Given the description of an element on the screen output the (x, y) to click on. 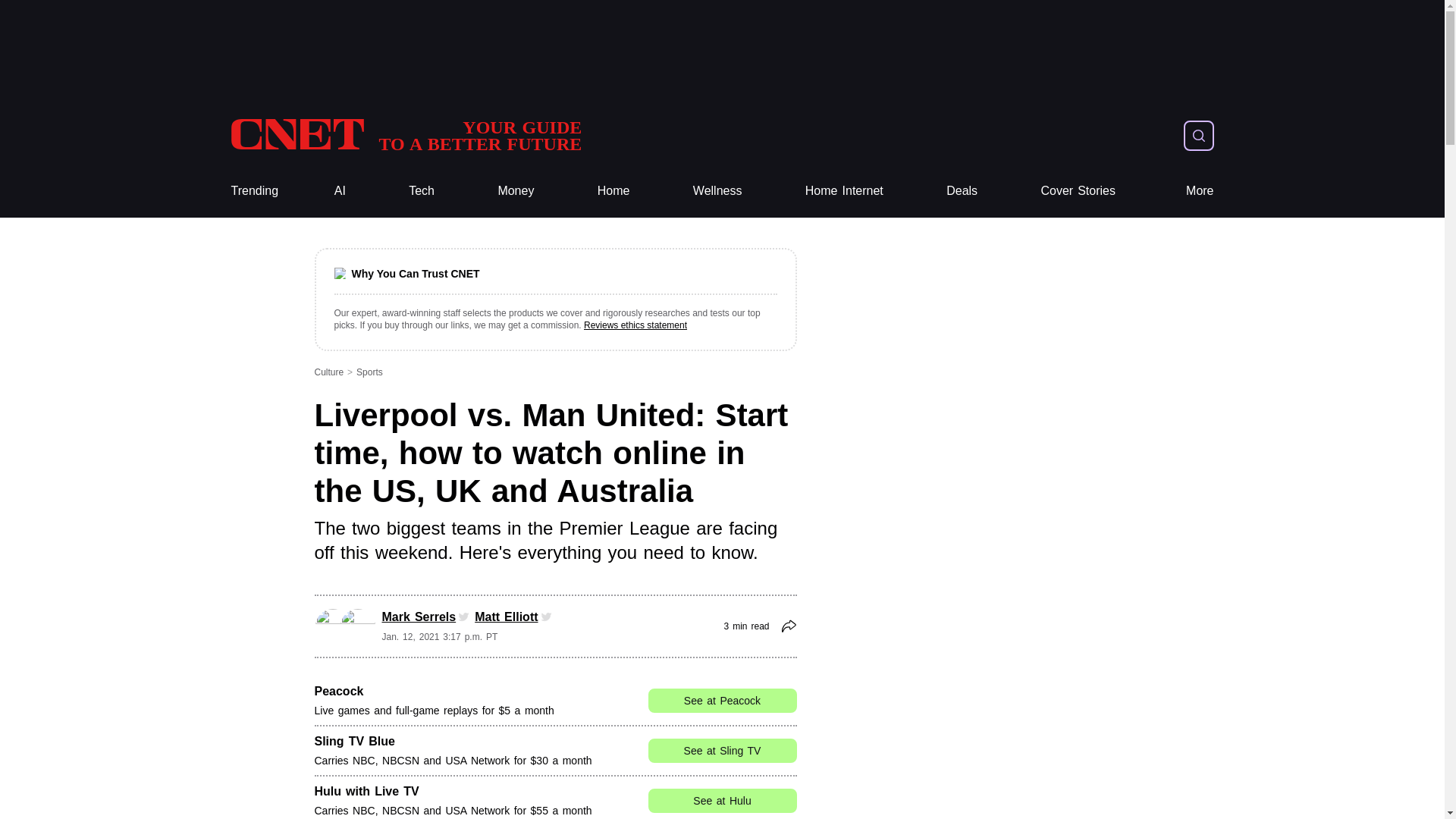
Tech (421, 190)
Tech (421, 190)
Trending (254, 190)
Home (613, 190)
Money (515, 190)
Money (515, 190)
Home Internet (844, 190)
Cover Stories (1078, 190)
CNET (405, 135)
Wellness (717, 190)
